Given the description of an element on the screen output the (x, y) to click on. 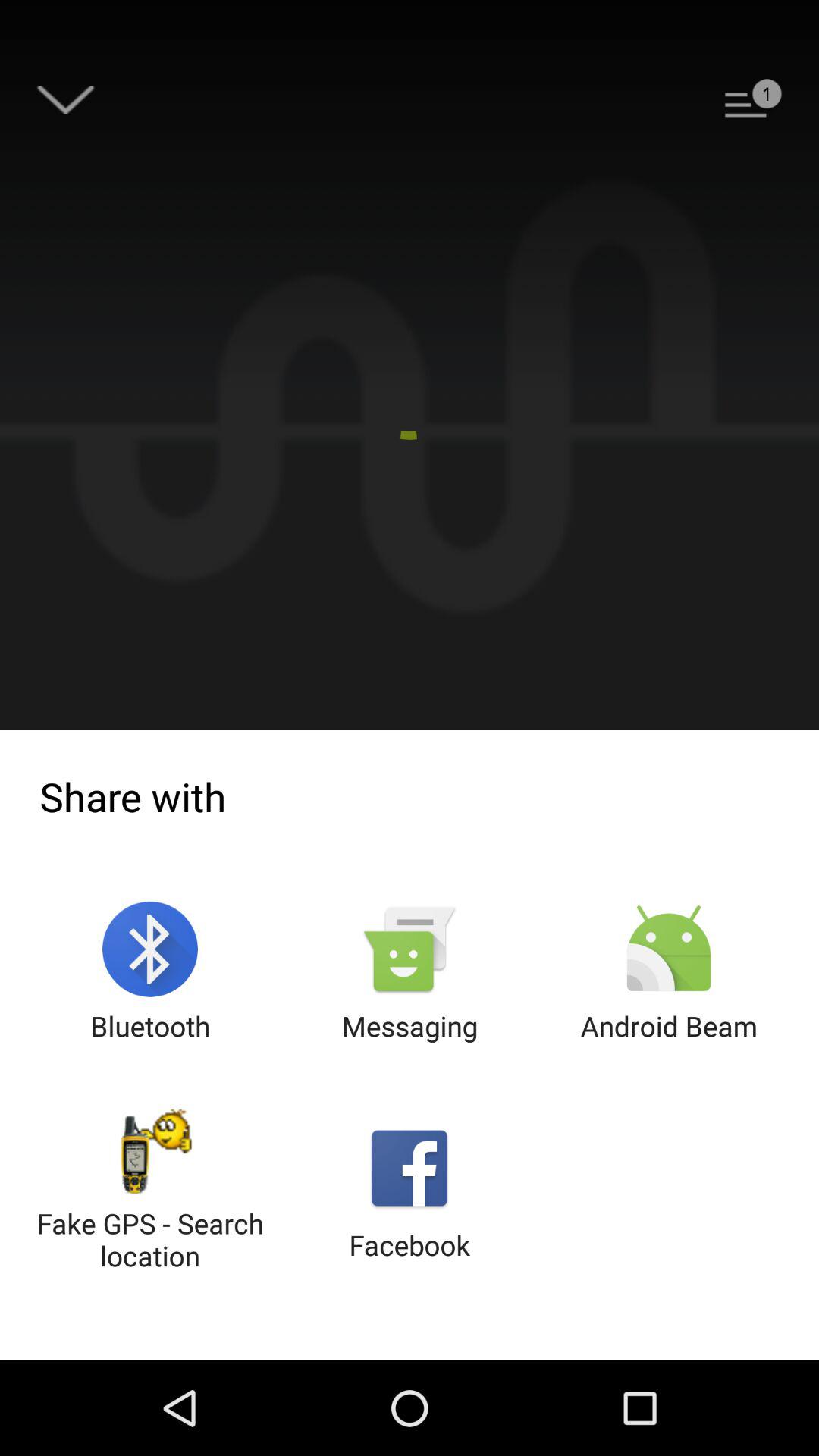
flip until the facebook icon (409, 1191)
